Given the description of an element on the screen output the (x, y) to click on. 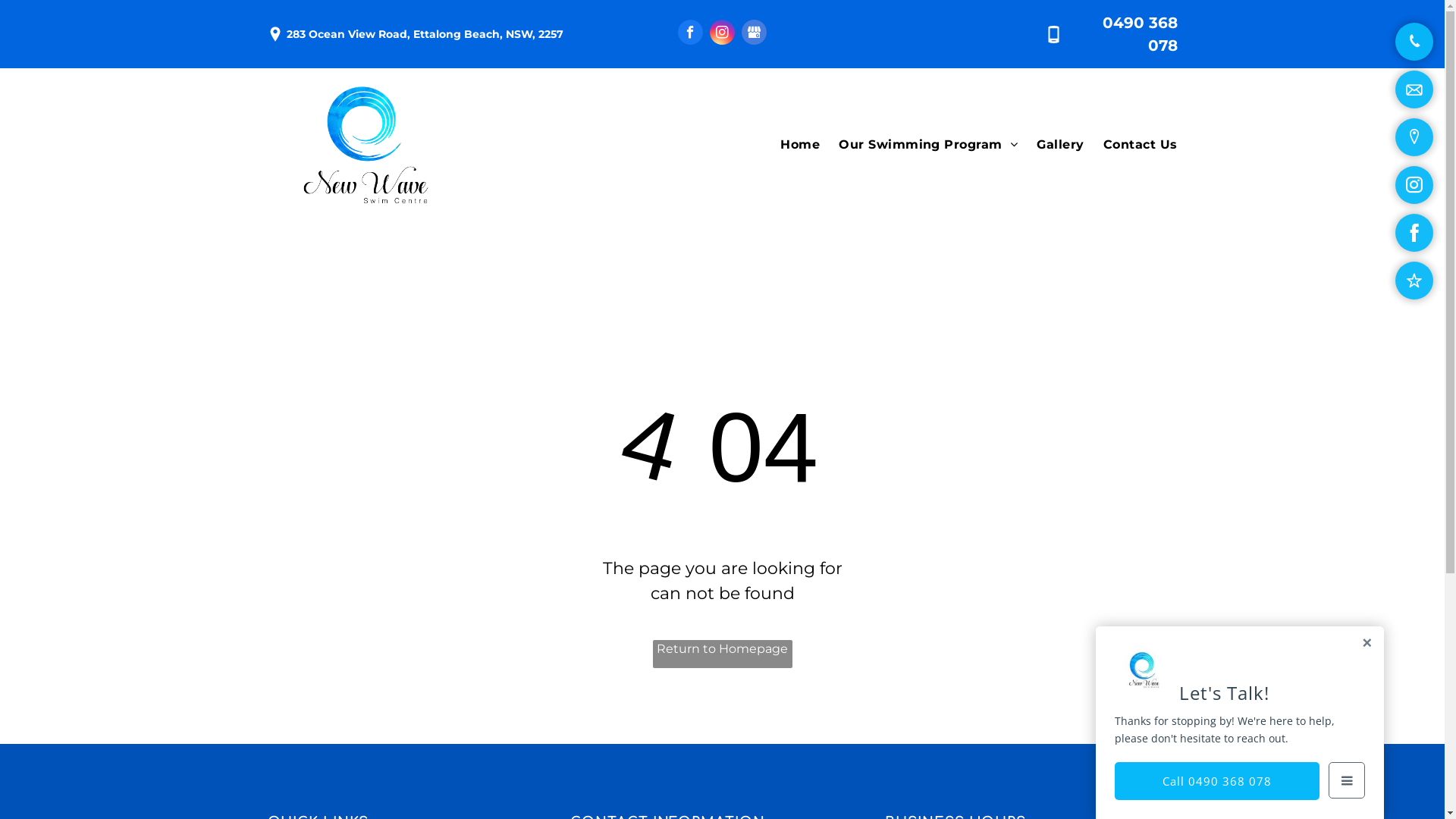
Return to Homepage Element type: text (721, 654)
Home Element type: text (790, 144)
New Wave Swim Centre Element type: hover (365, 144)
0490 368 078 Element type: text (1139, 33)
Contact Us Element type: text (1130, 144)
283 Ocean View Road, Ettalong Beach, NSW, 2257 Element type: text (424, 33)
Call 0490 368 078 Element type: text (1216, 781)
Gallery Element type: text (1050, 144)
Our Swimming Program Element type: text (918, 144)
